Given the description of an element on the screen output the (x, y) to click on. 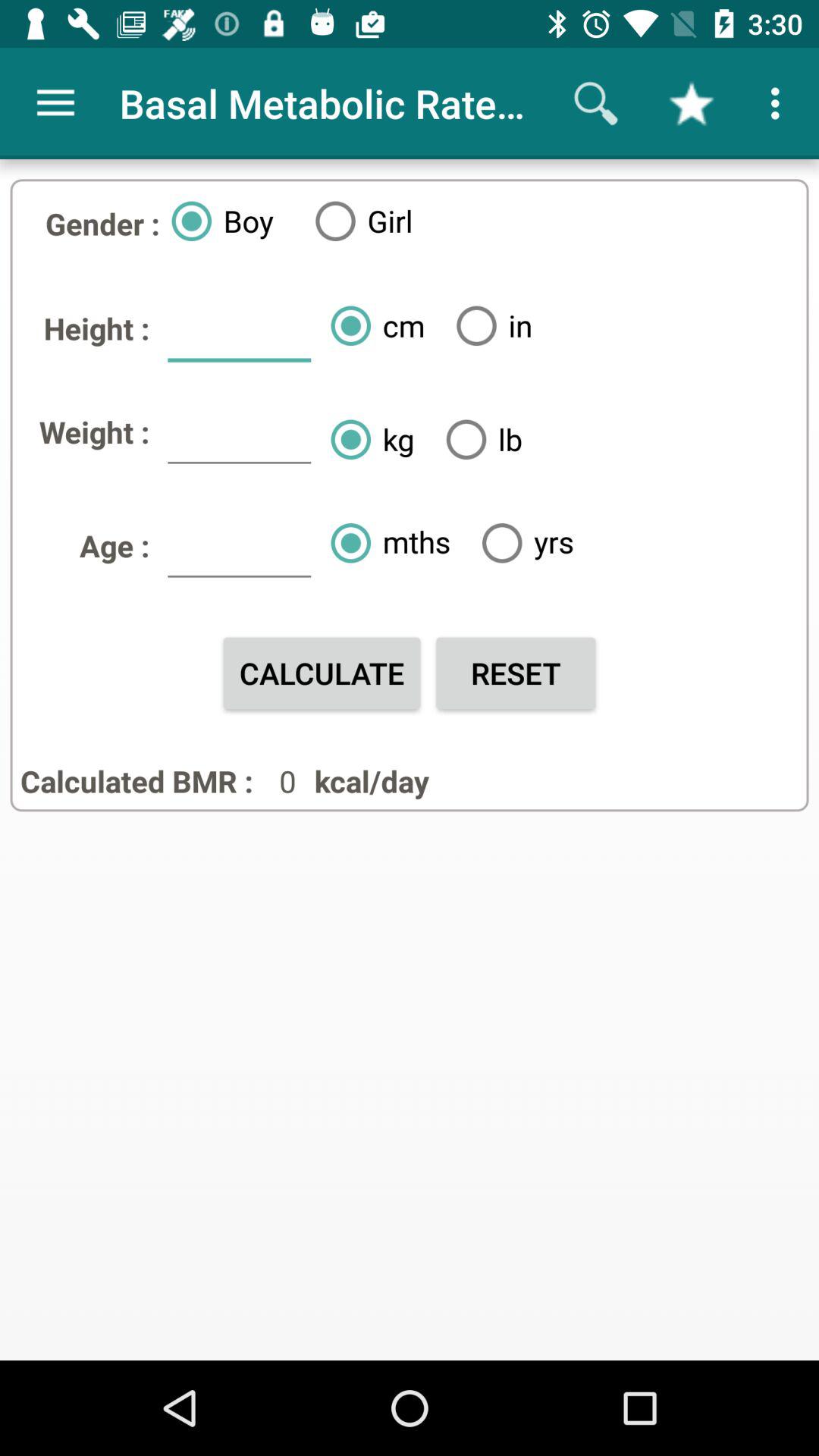
turn off the icon below the girl (371, 325)
